Given the description of an element on the screen output the (x, y) to click on. 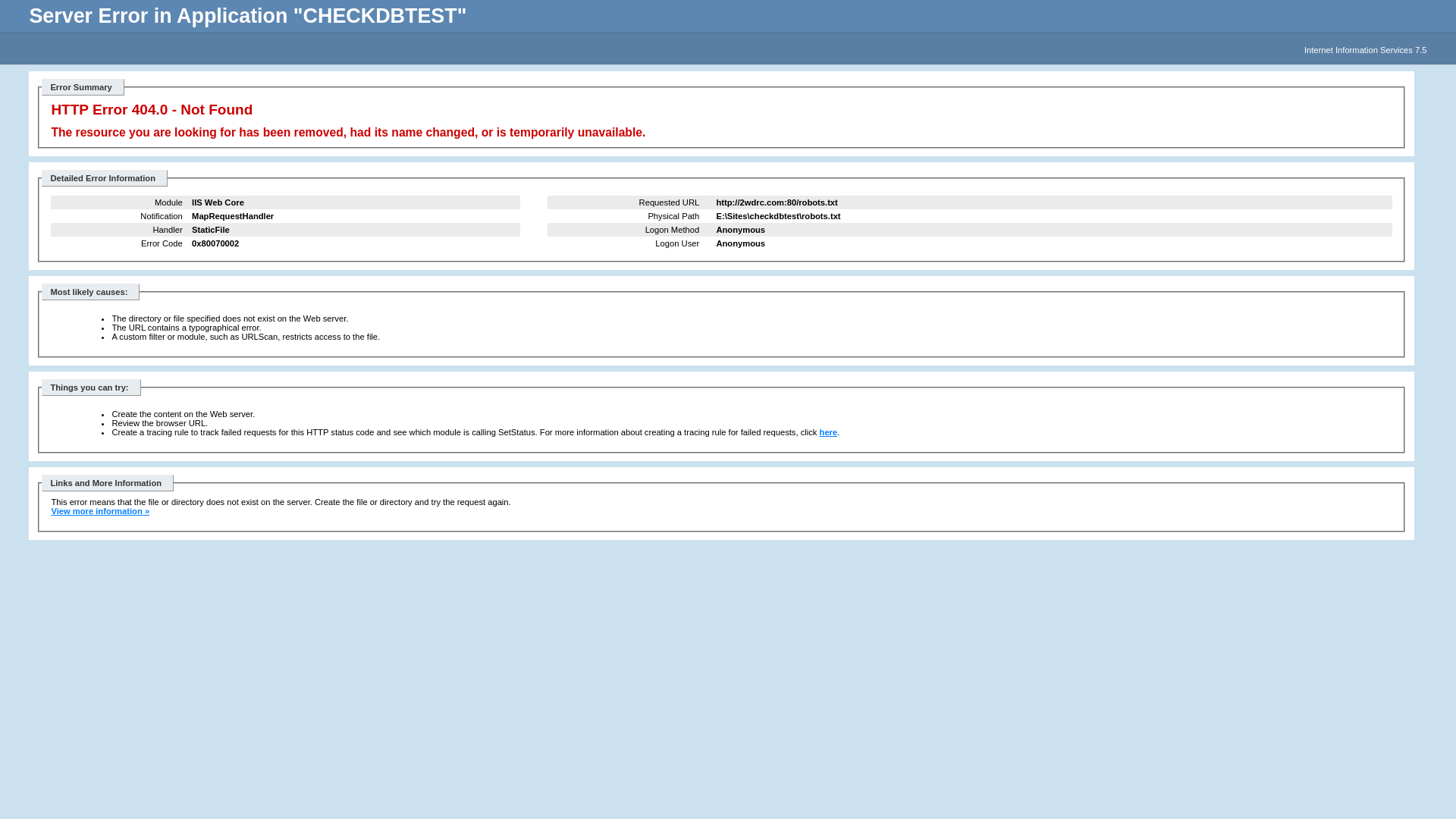
here Element type: text (828, 431)
